Given the description of an element on the screen output the (x, y) to click on. 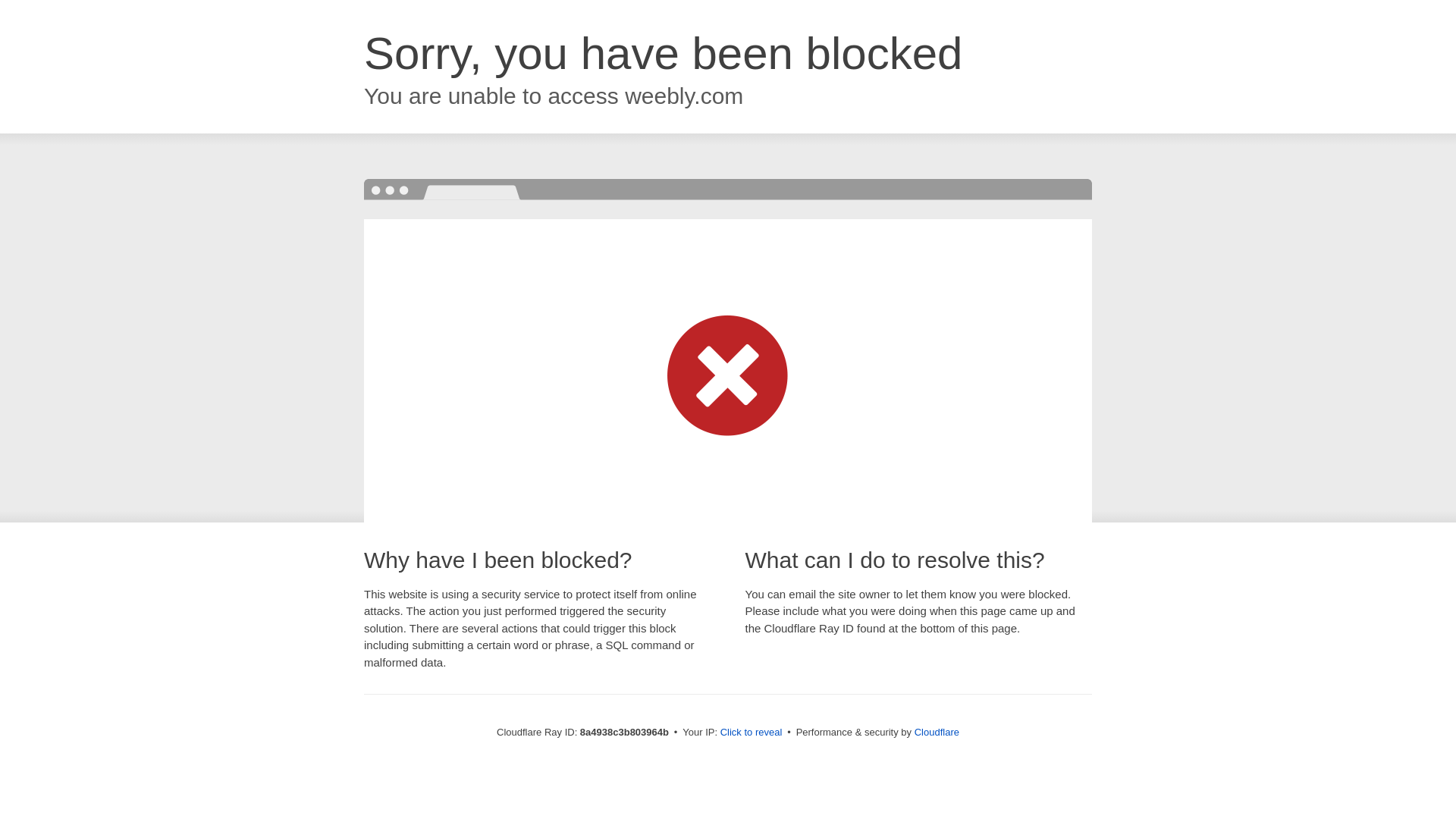
Cloudflare (936, 731)
Click to reveal (751, 732)
